Given the description of an element on the screen output the (x, y) to click on. 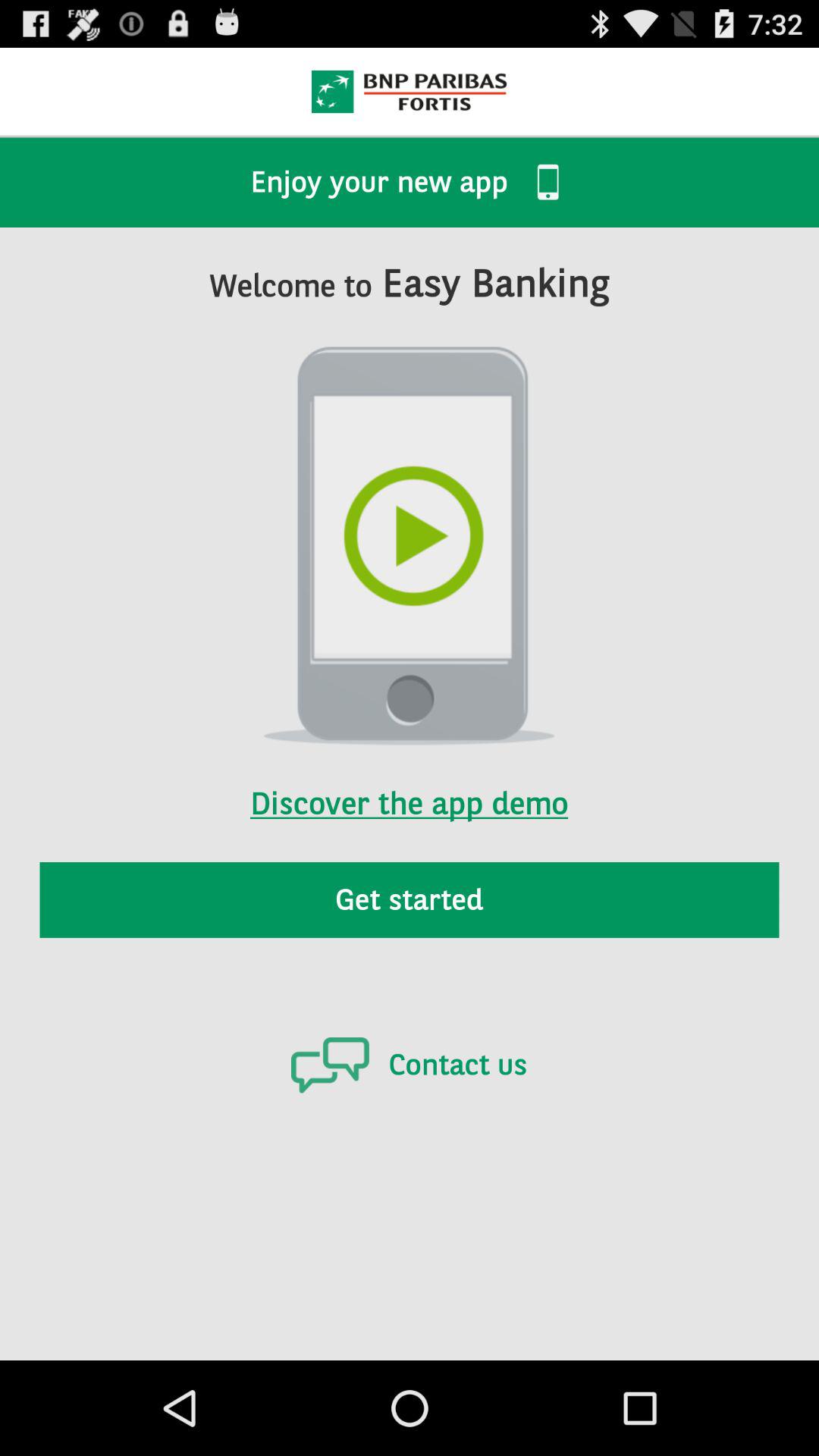
flip until get started item (409, 899)
